Given the description of an element on the screen output the (x, y) to click on. 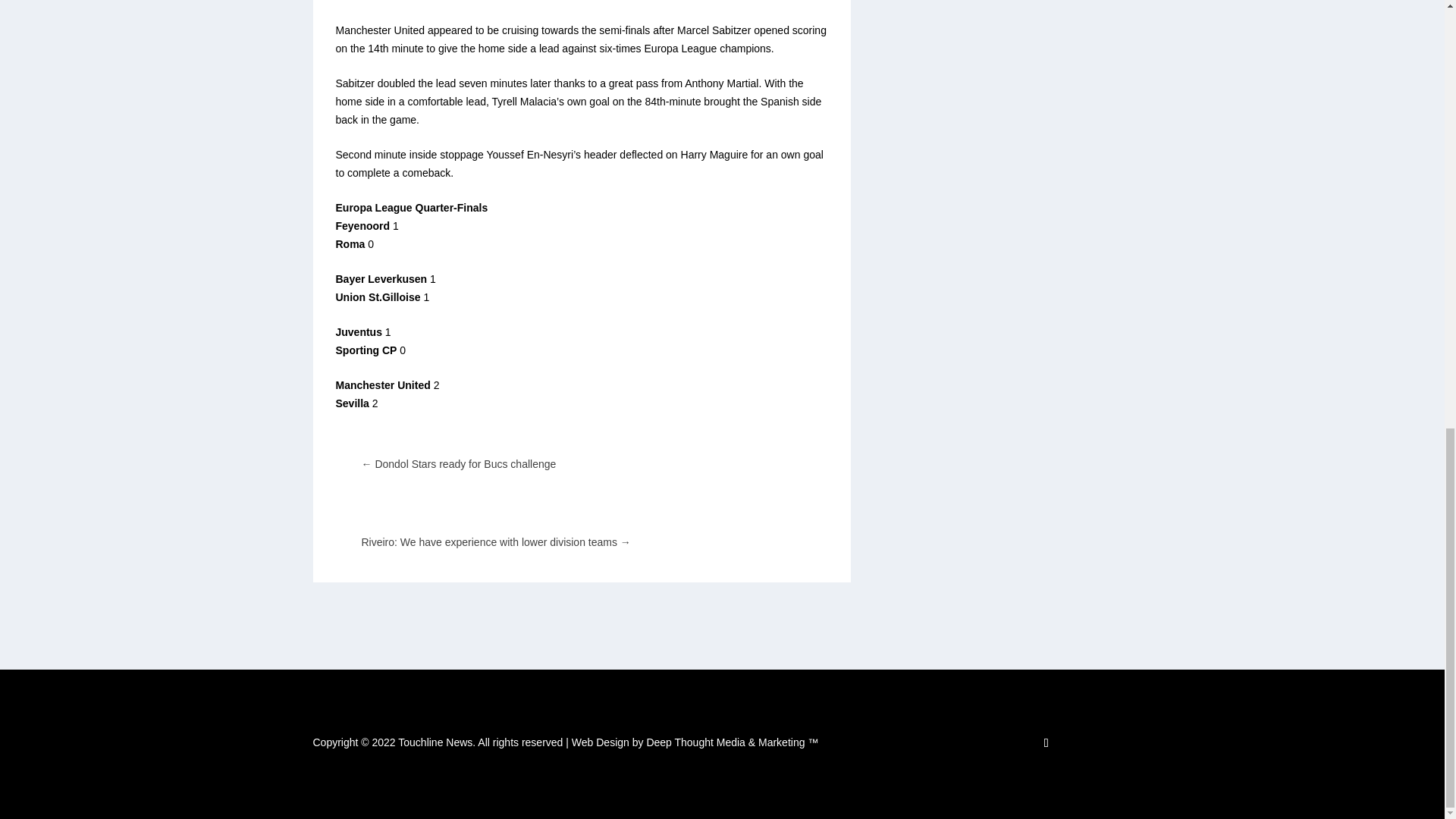
Digital Marketing Company Cape Town (695, 742)
Follow on Twitter (1045, 743)
